Given the description of an element on the screen output the (x, y) to click on. 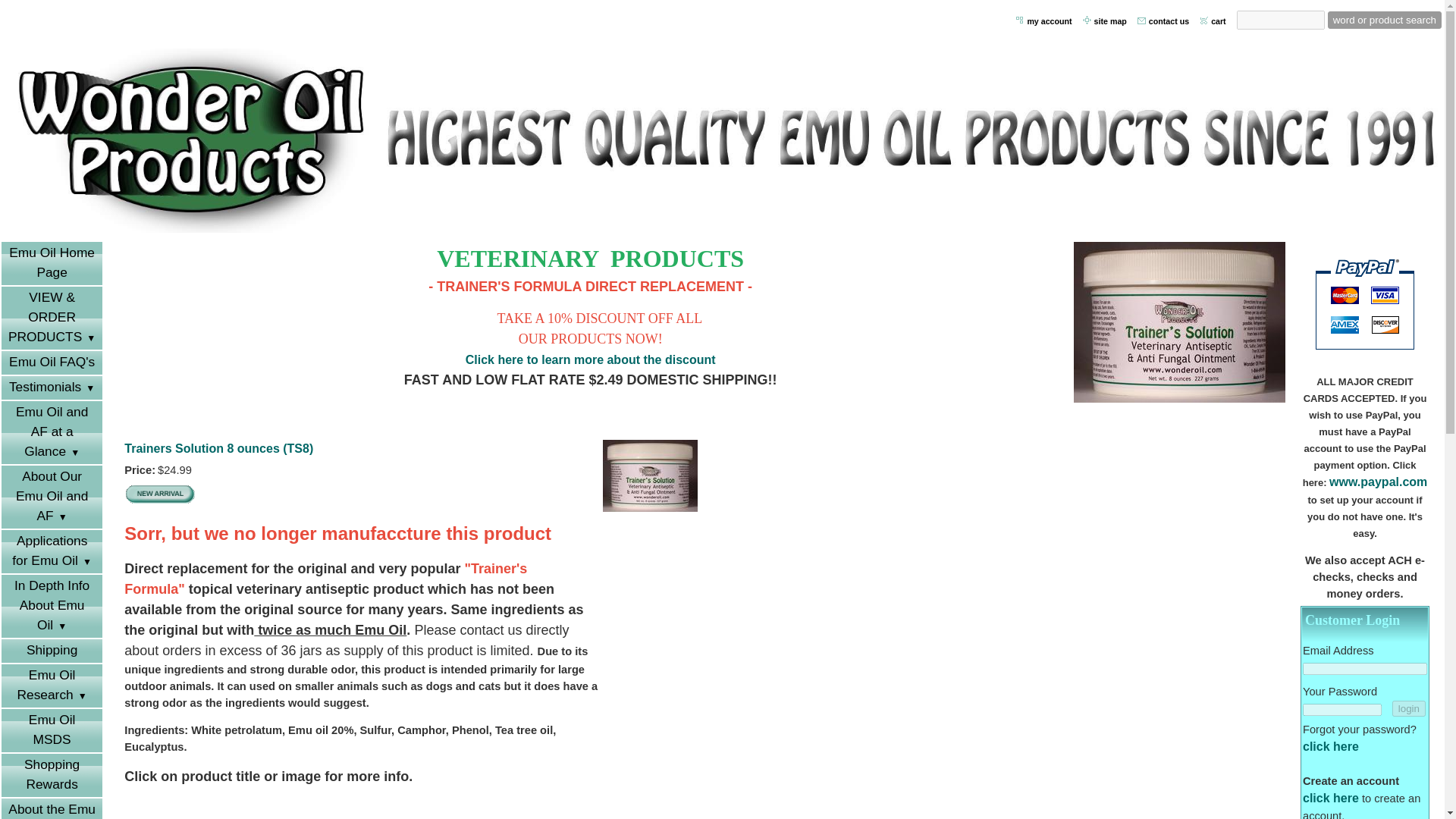
Emu Oil MSDS (51, 730)
Emu Oil FAQ's (51, 362)
Shopping Rewards (51, 774)
word or product search (1384, 19)
Emu Oil and AF at a Glance (51, 432)
cart (1219, 21)
ATM Machines (1364, 304)
contact us (1169, 21)
Emu Oil Research (51, 685)
About Our Emu Oil and AF (51, 497)
About the Emu (51, 808)
Shipping (51, 650)
In Depth Info About Emu Oil (51, 606)
Emu Oil Home Page (51, 263)
Applications for Emu Oil (51, 551)
